Given the description of an element on the screen output the (x, y) to click on. 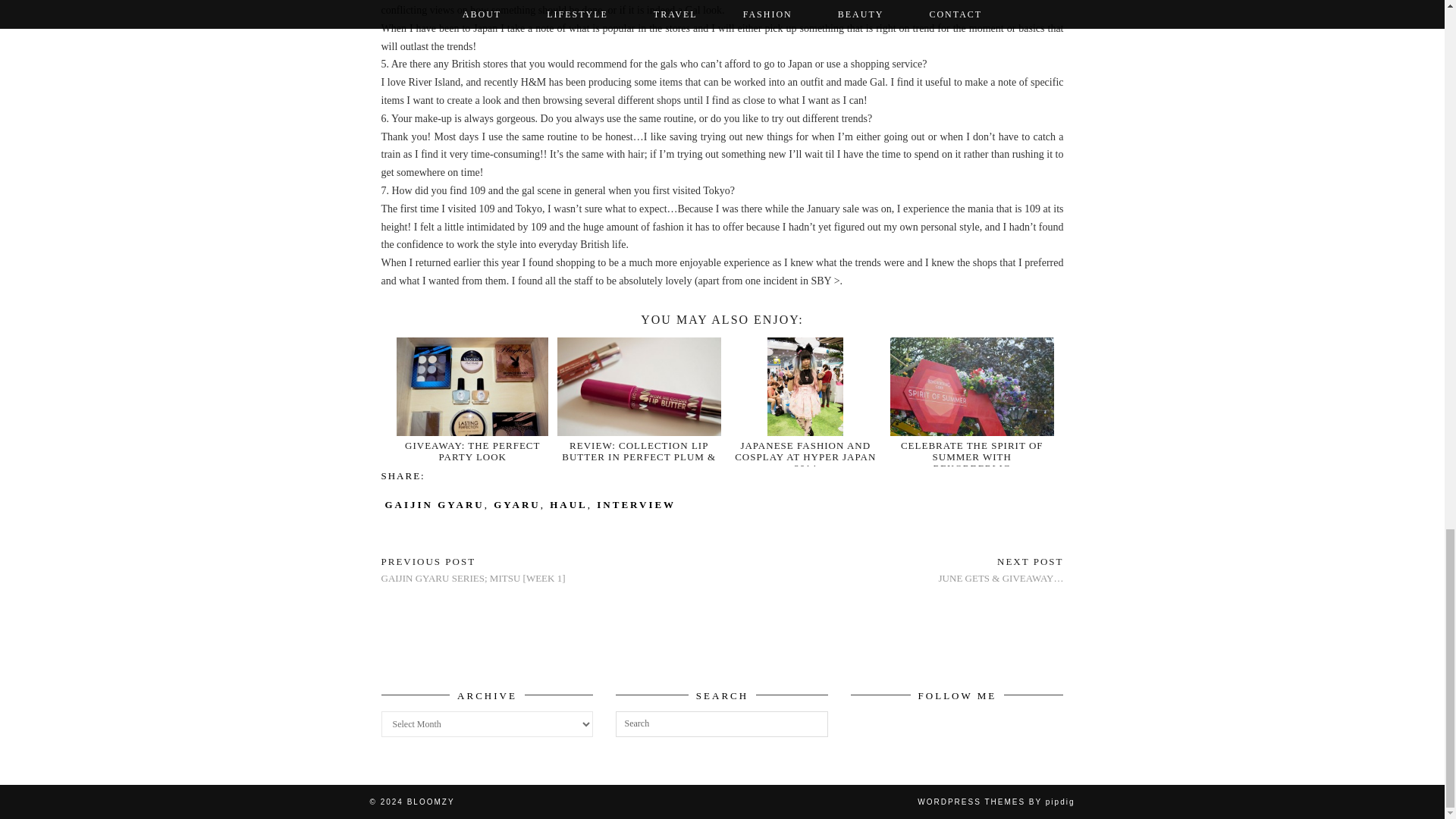
Giveaway: The Perfect Party Look (472, 447)
Search for: (721, 724)
GAIJIN GYARU (434, 504)
CELEBRATE THE SPIRIT OF SUMMER WITH REKORDERLIG (972, 456)
Celebrate the Spirit of Summer with Rekorderlig (972, 456)
Giveaway: The Perfect Party Look (472, 450)
GIVEAWAY: THE PERFECT PARTY LOOK (472, 450)
WORDPRESS THEMES (971, 801)
BLOOMZY (430, 801)
JAPANESE FASHION AND COSPLAY AT HYPER JAPAN 2014 (805, 456)
GYARU (516, 504)
pipdig (1060, 801)
Celebrate the Spirit of Summer with Rekorderlig (971, 442)
Japanese Fashion and Cosplay at Hyper Japan 2014 (805, 456)
INTERVIEW (635, 504)
